Given the description of an element on the screen output the (x, y) to click on. 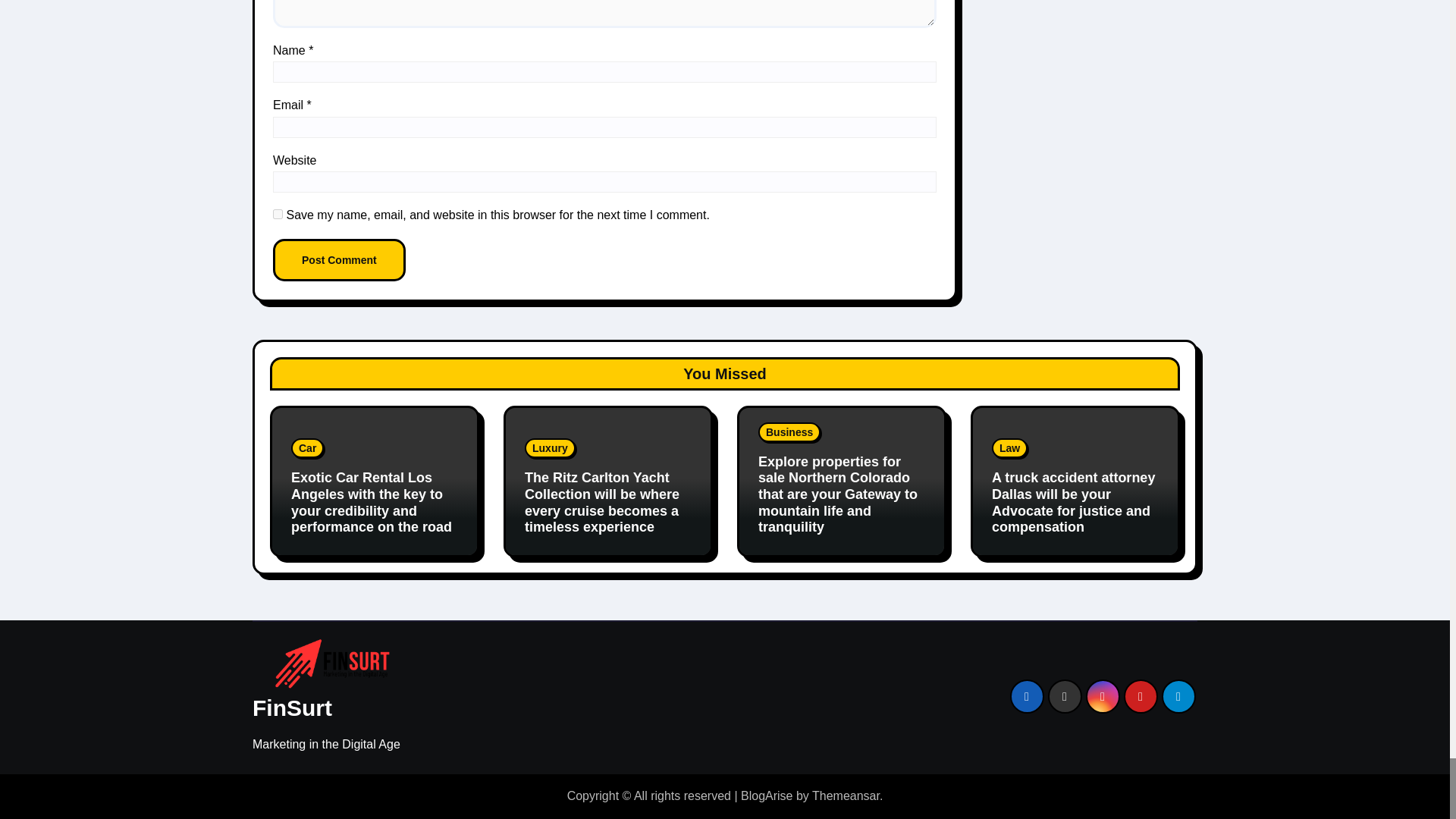
yes (277, 214)
Post Comment (339, 260)
